Given the description of an element on the screen output the (x, y) to click on. 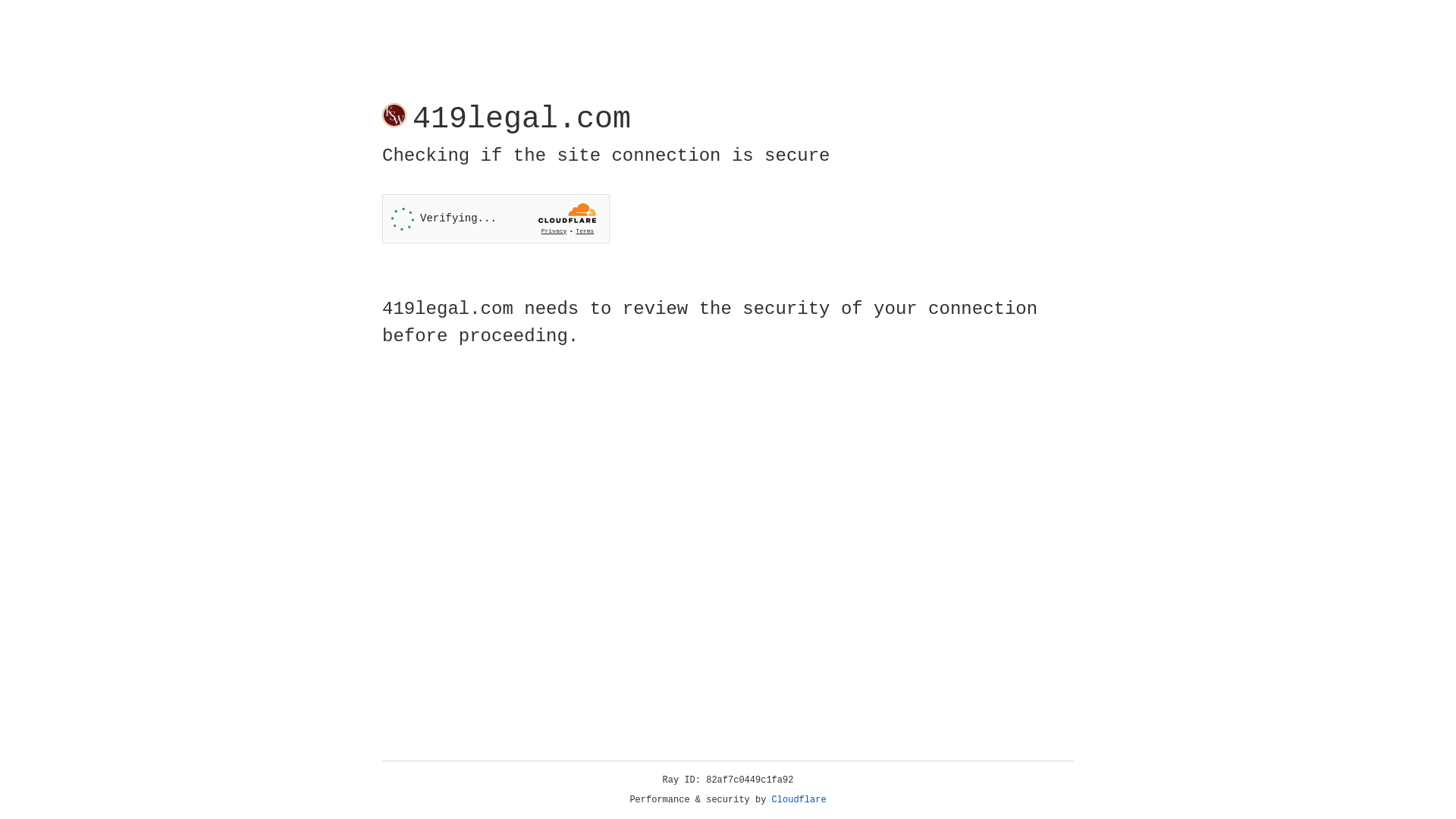
Cloudflare Element type: text (798, 799)
Widget containing a Cloudflare security challenge Element type: hover (495, 218)
